Given the description of an element on the screen output the (x, y) to click on. 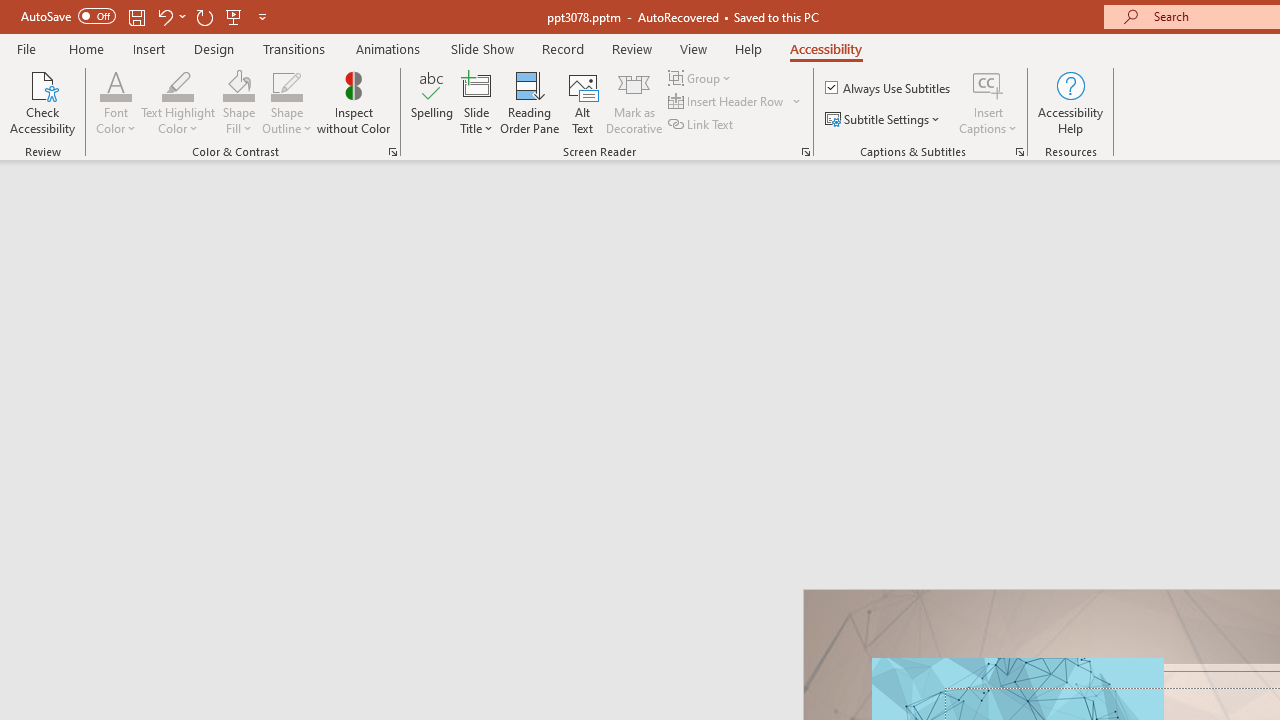
Inspect without Color (353, 102)
Link Text (702, 124)
